Given the description of an element on the screen output the (x, y) to click on. 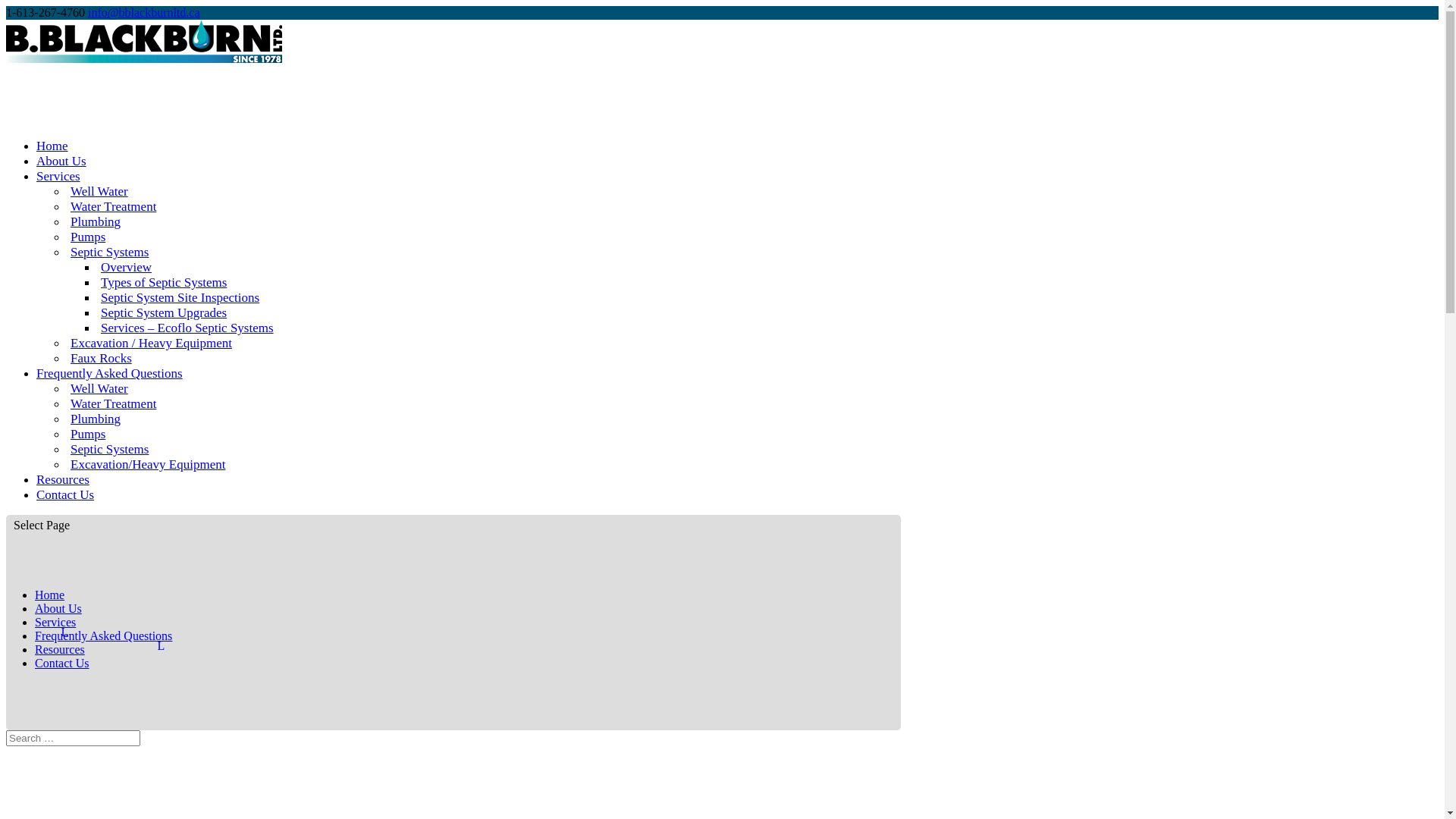
Resources Element type: text (62, 488)
Water Treatment Element type: text (113, 206)
Septic Systems Element type: text (109, 252)
About Us Element type: text (57, 608)
Septic System Site Inspections Element type: text (180, 297)
Services Element type: text (54, 621)
Pumps Element type: text (87, 434)
Resources Element type: text (59, 649)
Search for: Element type: hover (73, 738)
Contact Us Element type: text (65, 503)
Excavation/Heavy Equipment Element type: text (147, 464)
Home Element type: text (52, 155)
Frequently Asked Questions Element type: text (109, 382)
Well Water Element type: text (98, 191)
Faux Rocks Element type: text (100, 358)
Water Treatment Element type: text (113, 403)
Well Water Element type: text (98, 388)
Septic Systems Element type: text (109, 449)
Frequently Asked Questions Element type: text (103, 635)
info@bblackburnltd.ca Element type: text (143, 12)
Services Element type: text (58, 185)
Septic System Upgrades Element type: text (163, 312)
Contact Us Element type: text (61, 662)
Pumps Element type: text (87, 236)
Types of Septic Systems Element type: text (163, 282)
Home Element type: text (49, 594)
Excavation / Heavy Equipment Element type: text (150, 343)
About Us Element type: text (61, 170)
Plumbing Element type: text (95, 418)
Plumbing Element type: text (95, 221)
Overview Element type: text (126, 267)
